Given the description of an element on the screen output the (x, y) to click on. 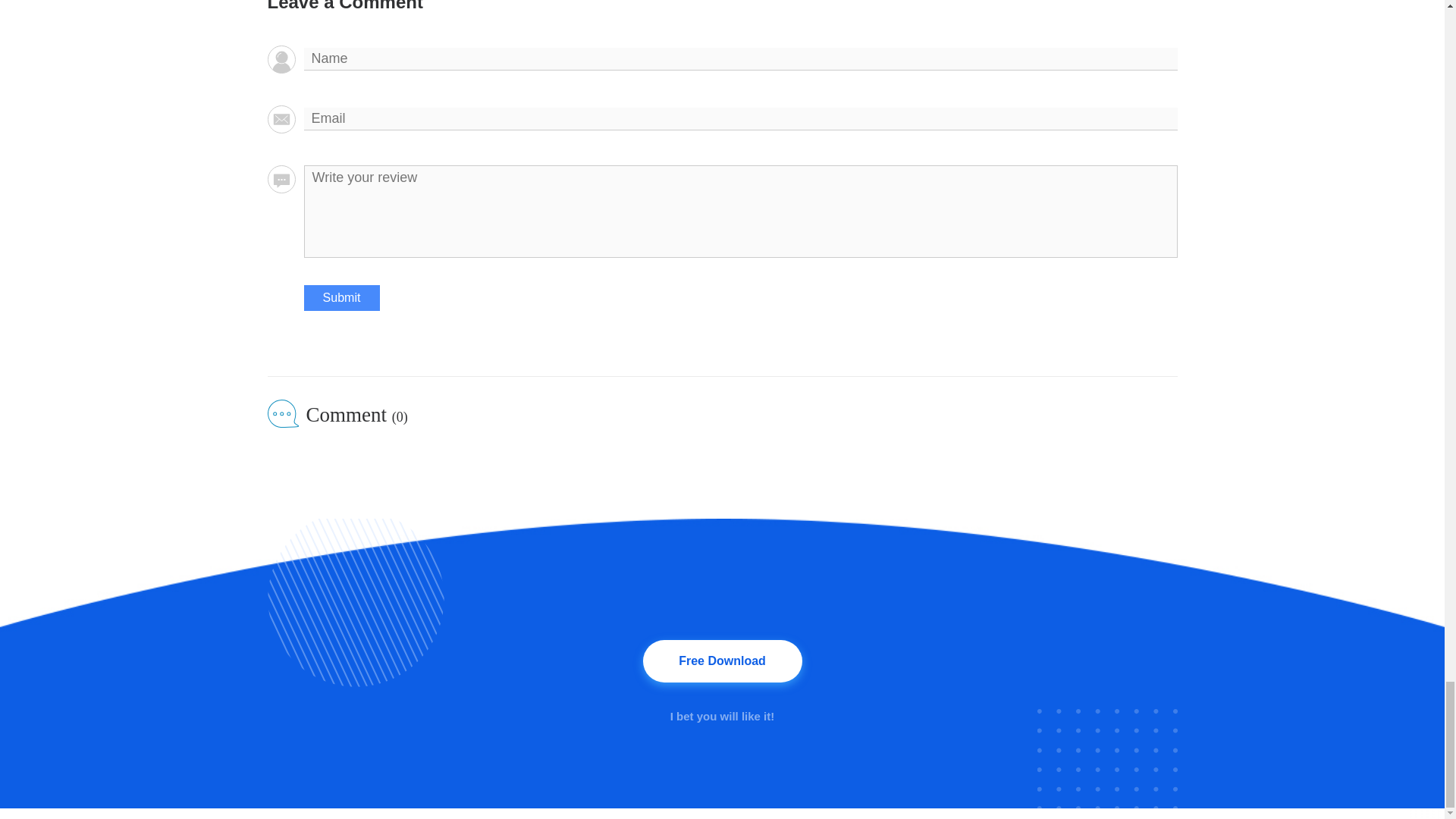
Free Download (722, 660)
